Given the description of an element on the screen output the (x, y) to click on. 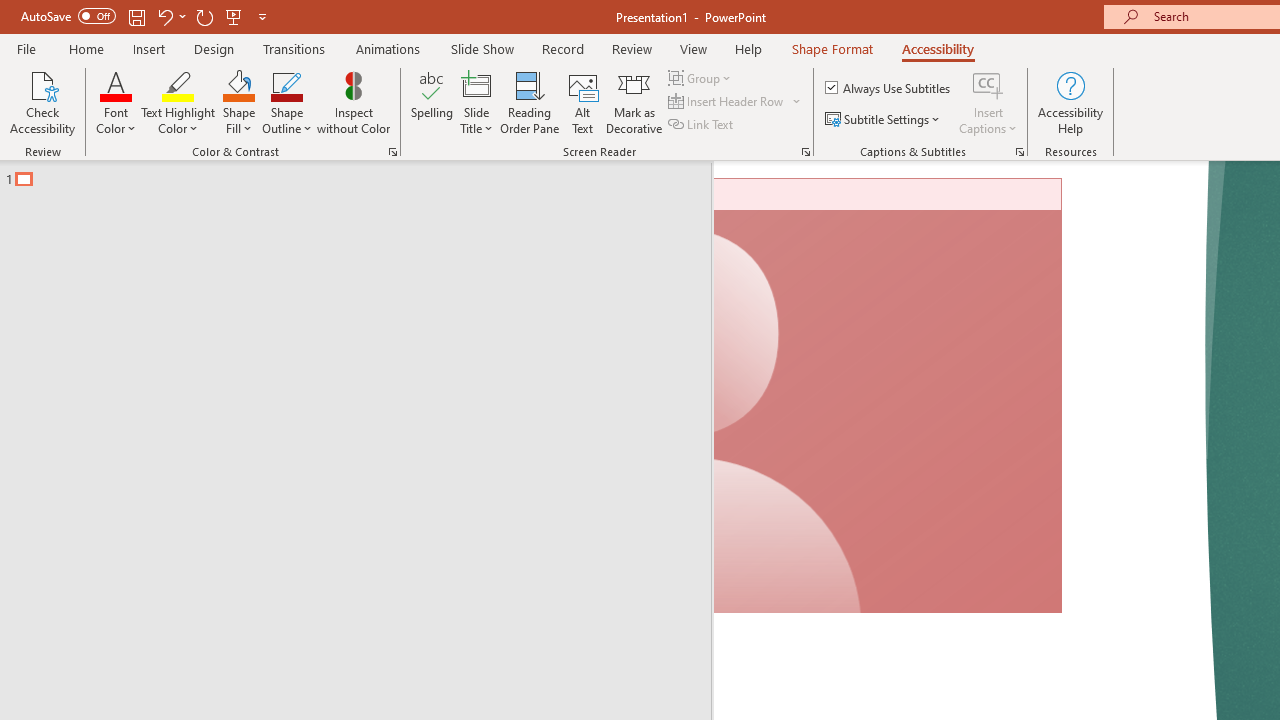
View (693, 48)
Home (86, 48)
Shape Fill (238, 102)
Always Use Subtitles (889, 87)
Subtitle Settings (884, 119)
Color & Contrast (392, 151)
Save (136, 15)
